Given the description of an element on the screen output the (x, y) to click on. 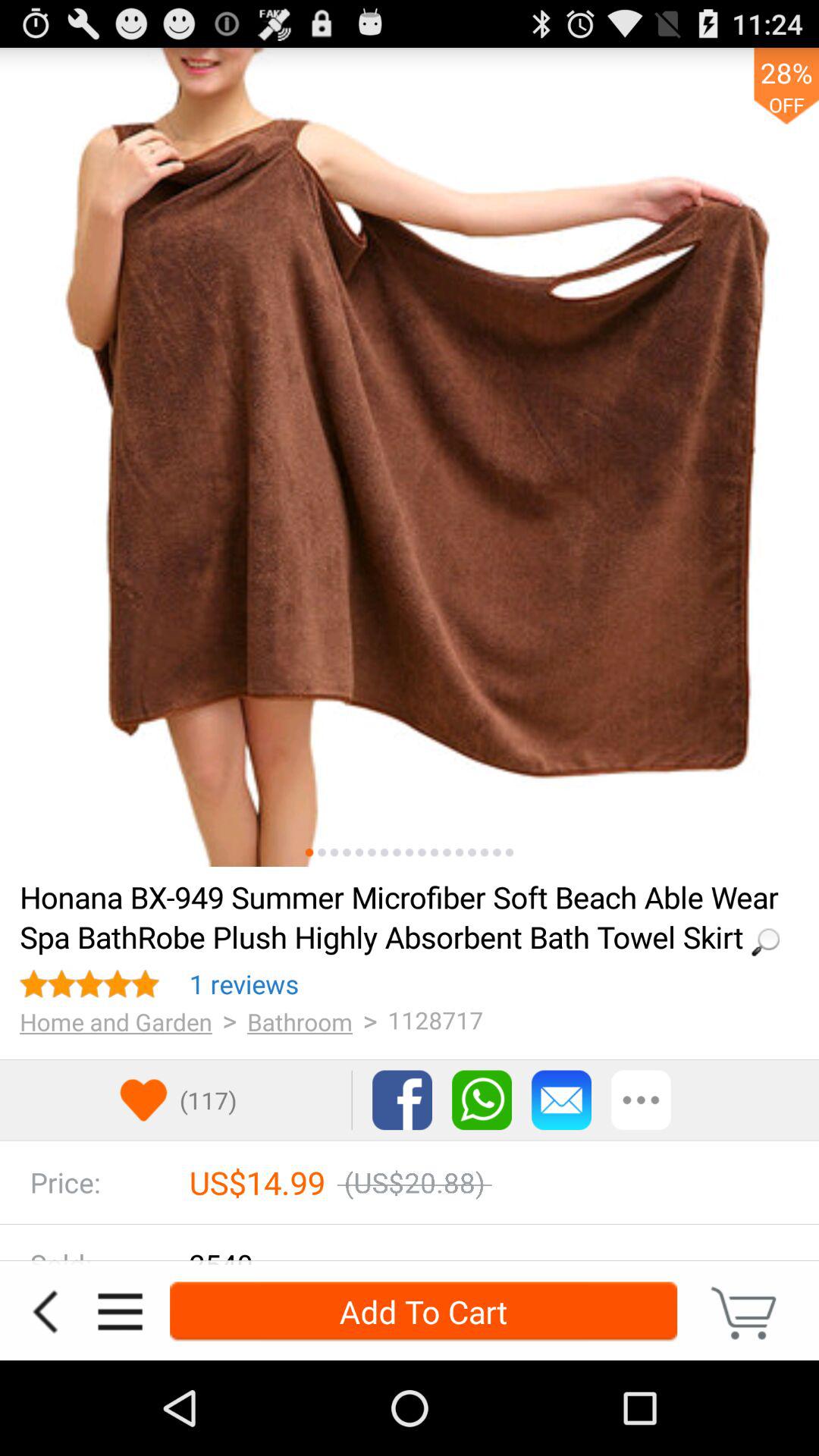
email link (561, 1100)
